Given the description of an element on the screen output the (x, y) to click on. 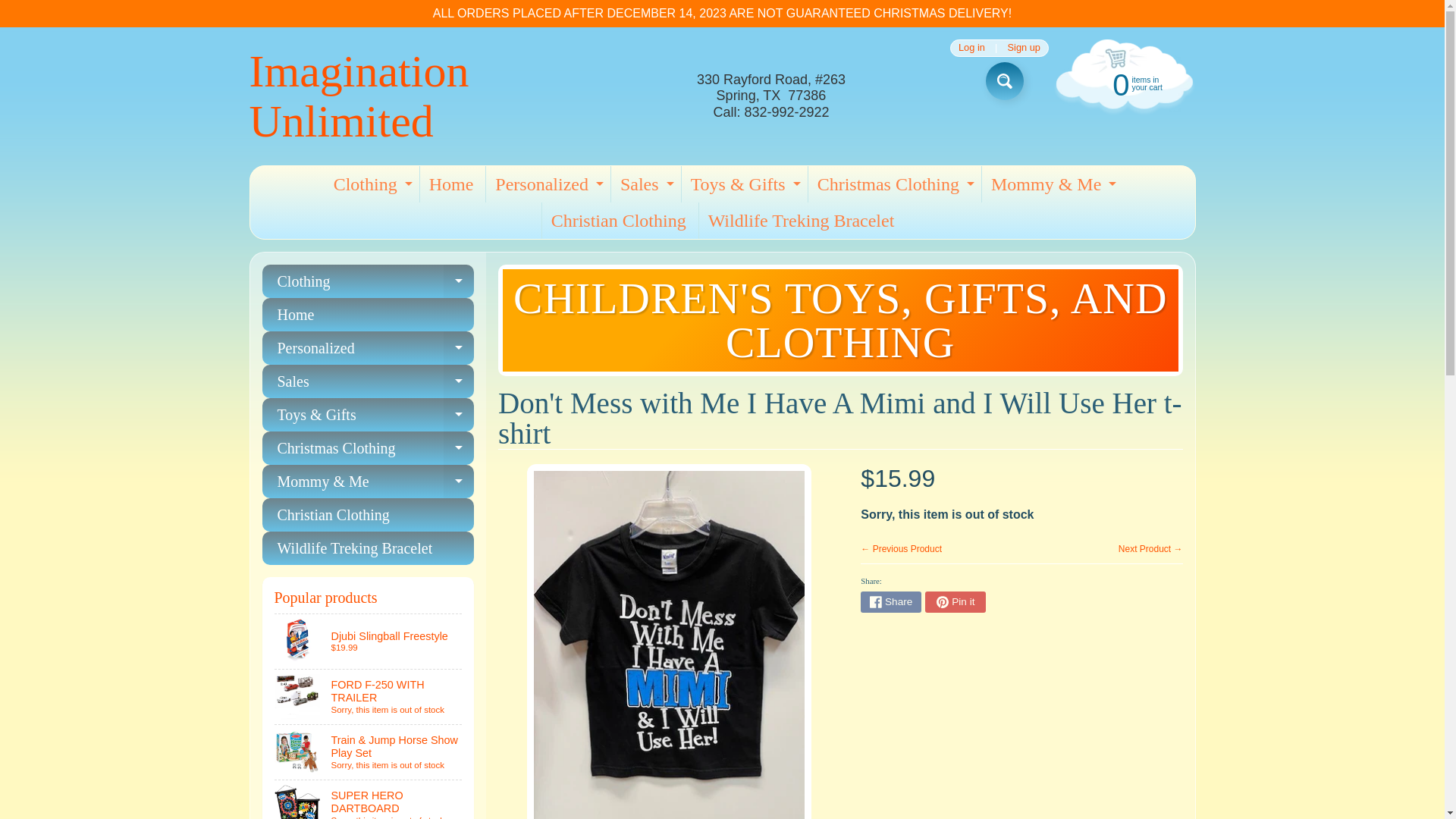
Log in (970, 48)
Djubi Slingball Freestyle (369, 641)
SUPER HERO DARTBOARD (370, 184)
Search (369, 799)
Search (644, 184)
Imagination Unlimited (1122, 83)
